Given the description of an element on the screen output the (x, y) to click on. 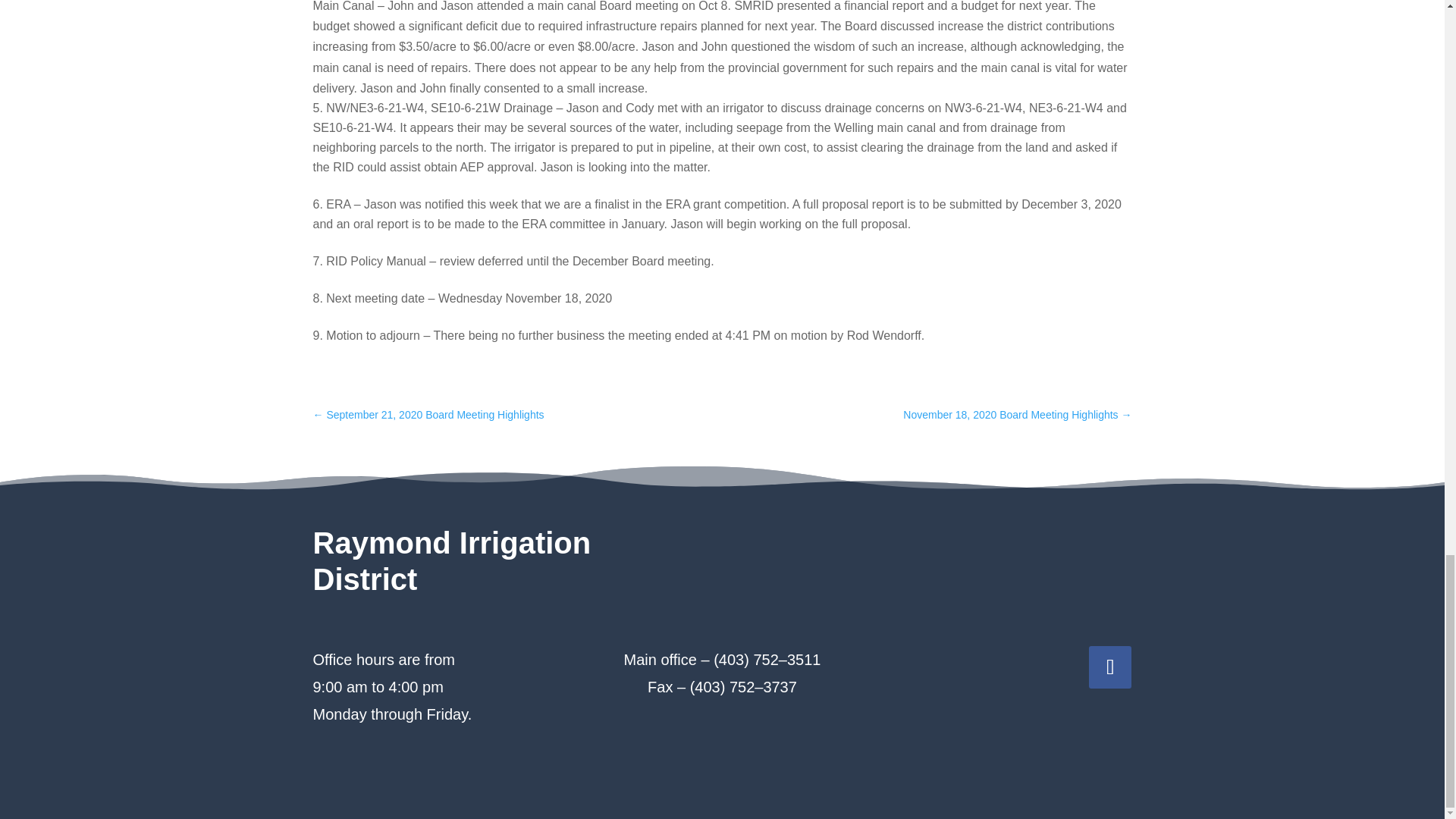
Follow on Facebook (1110, 667)
